Given the description of an element on the screen output the (x, y) to click on. 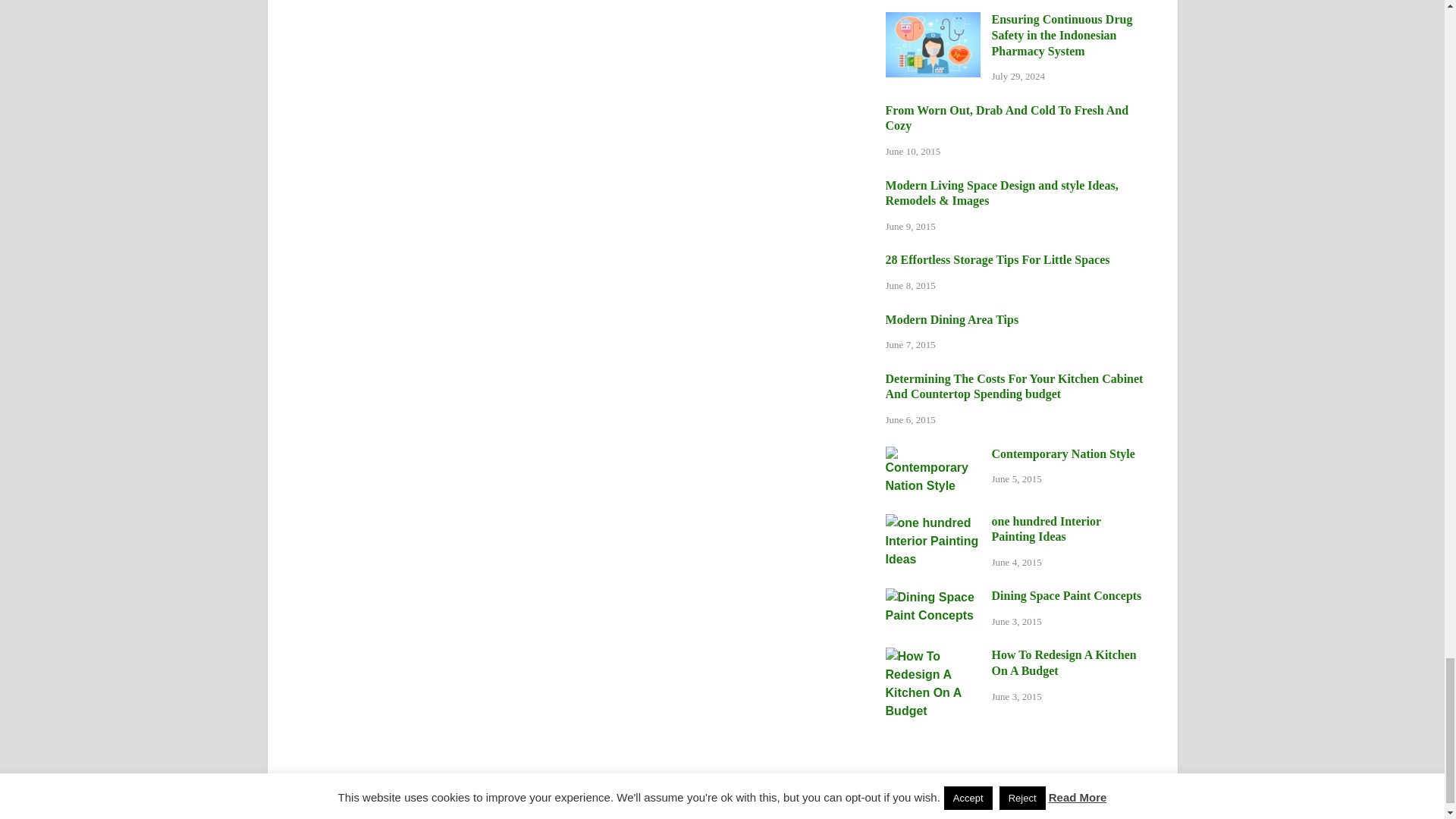
Dining Space Paint Concepts (932, 596)
one hundred Interior Painting Ideas (932, 521)
Contemporary Nation Style (932, 454)
How To Redesign A Kitchen On A Budget (932, 656)
